Given the description of an element on the screen output the (x, y) to click on. 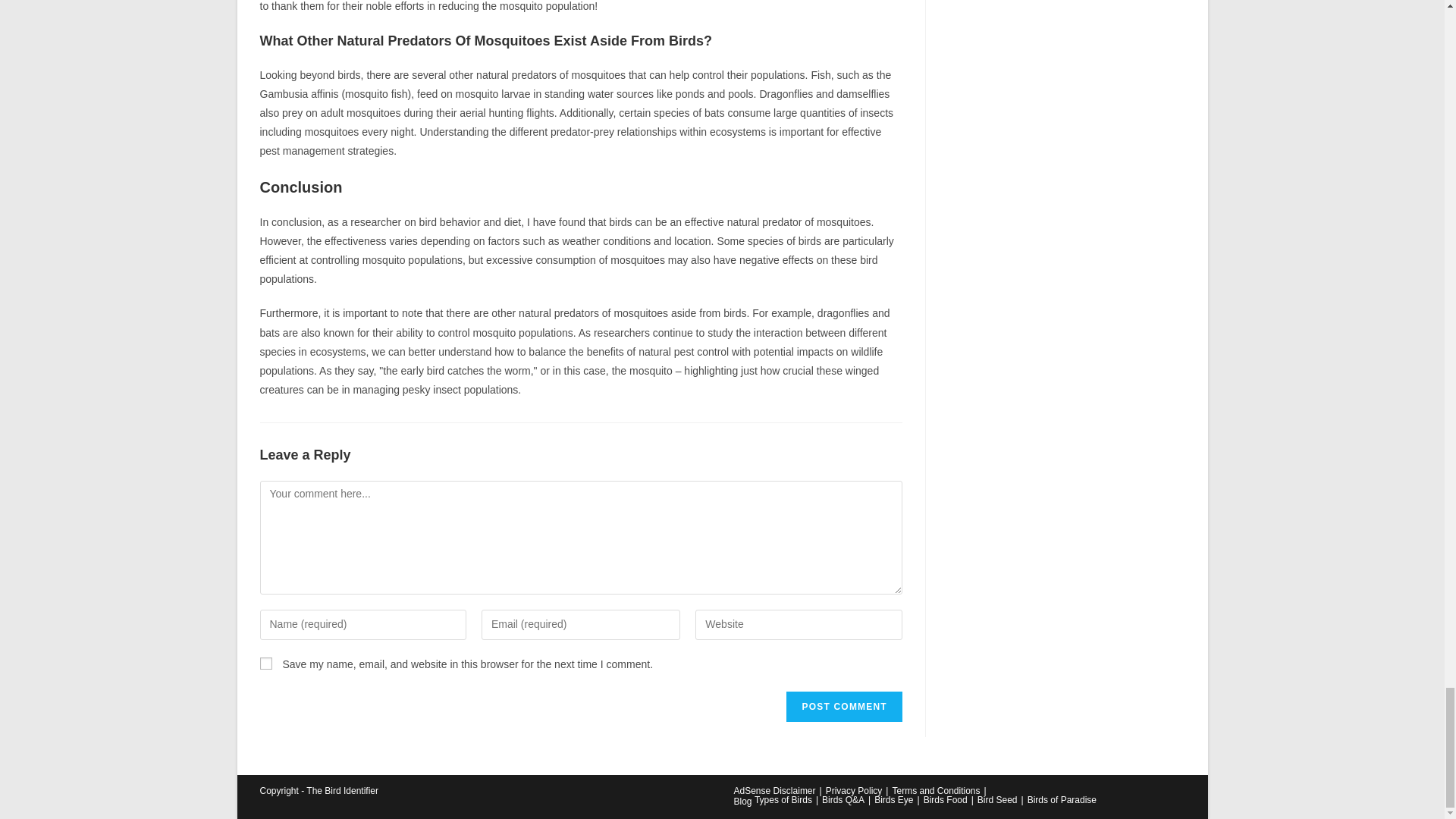
Post Comment (843, 706)
Post Comment (843, 706)
yes (264, 663)
